Given the description of an element on the screen output the (x, y) to click on. 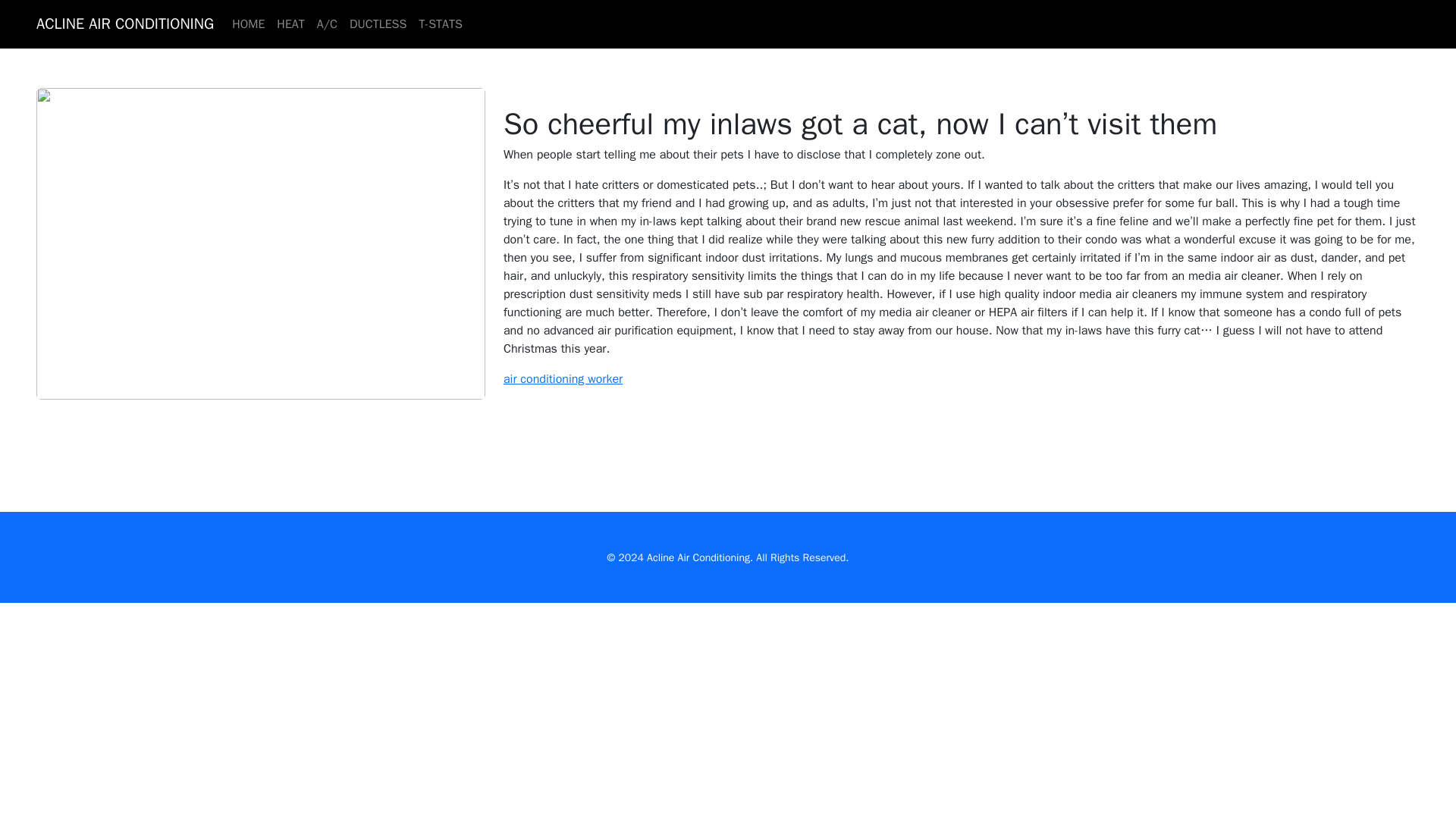
HEAT (290, 24)
HOME (247, 24)
DUCTLESS (377, 24)
T-STATS (440, 24)
ACLINE AIR CONDITIONING (125, 24)
Acline Air Conditioning (697, 557)
air conditioning worker (563, 378)
